Given the description of an element on the screen output the (x, y) to click on. 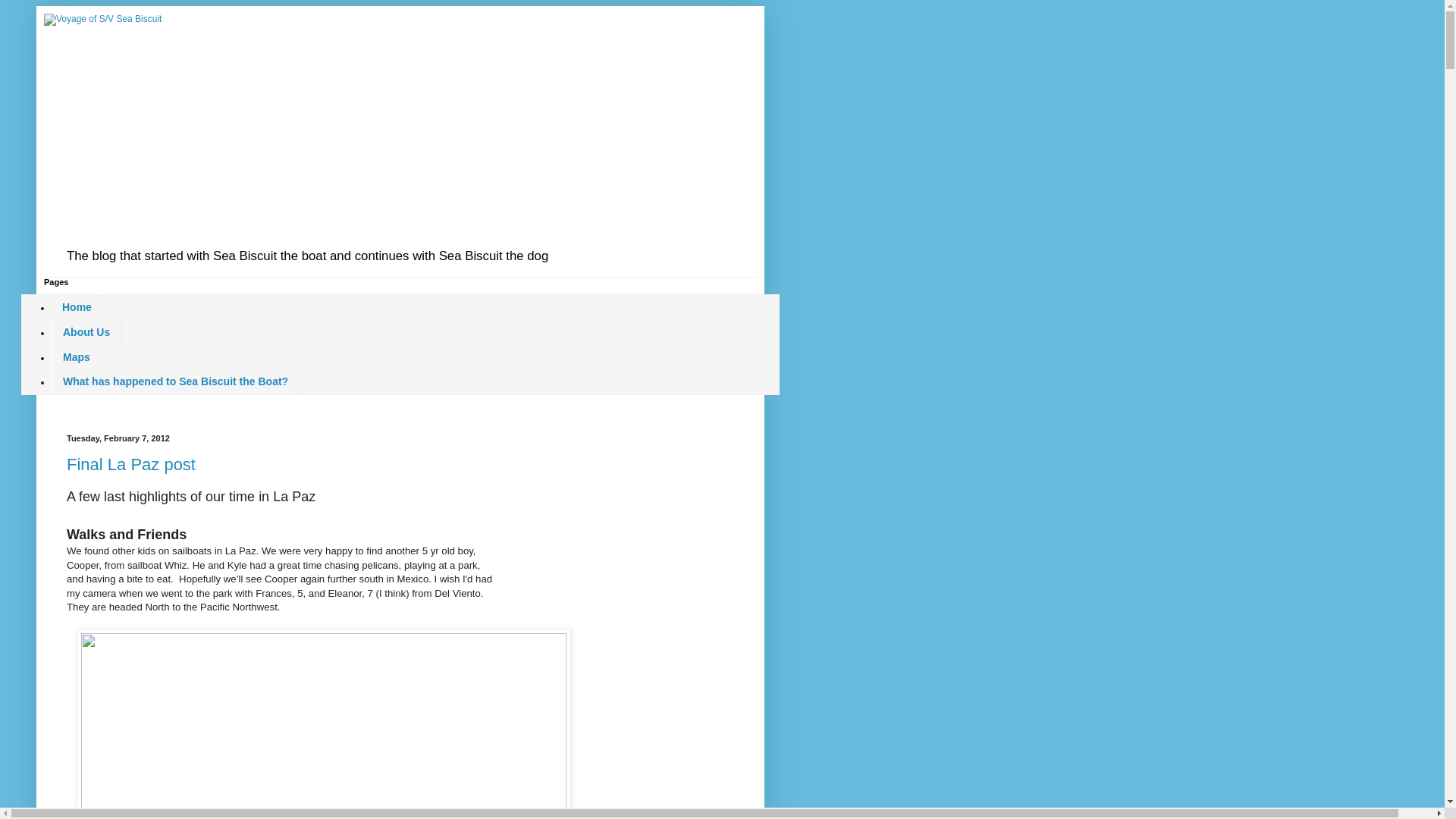
Home (76, 307)
Final La Paz post (130, 464)
Maps (75, 356)
What has happened to Sea Biscuit the Boat? (174, 381)
About Us (85, 331)
